Given the description of an element on the screen output the (x, y) to click on. 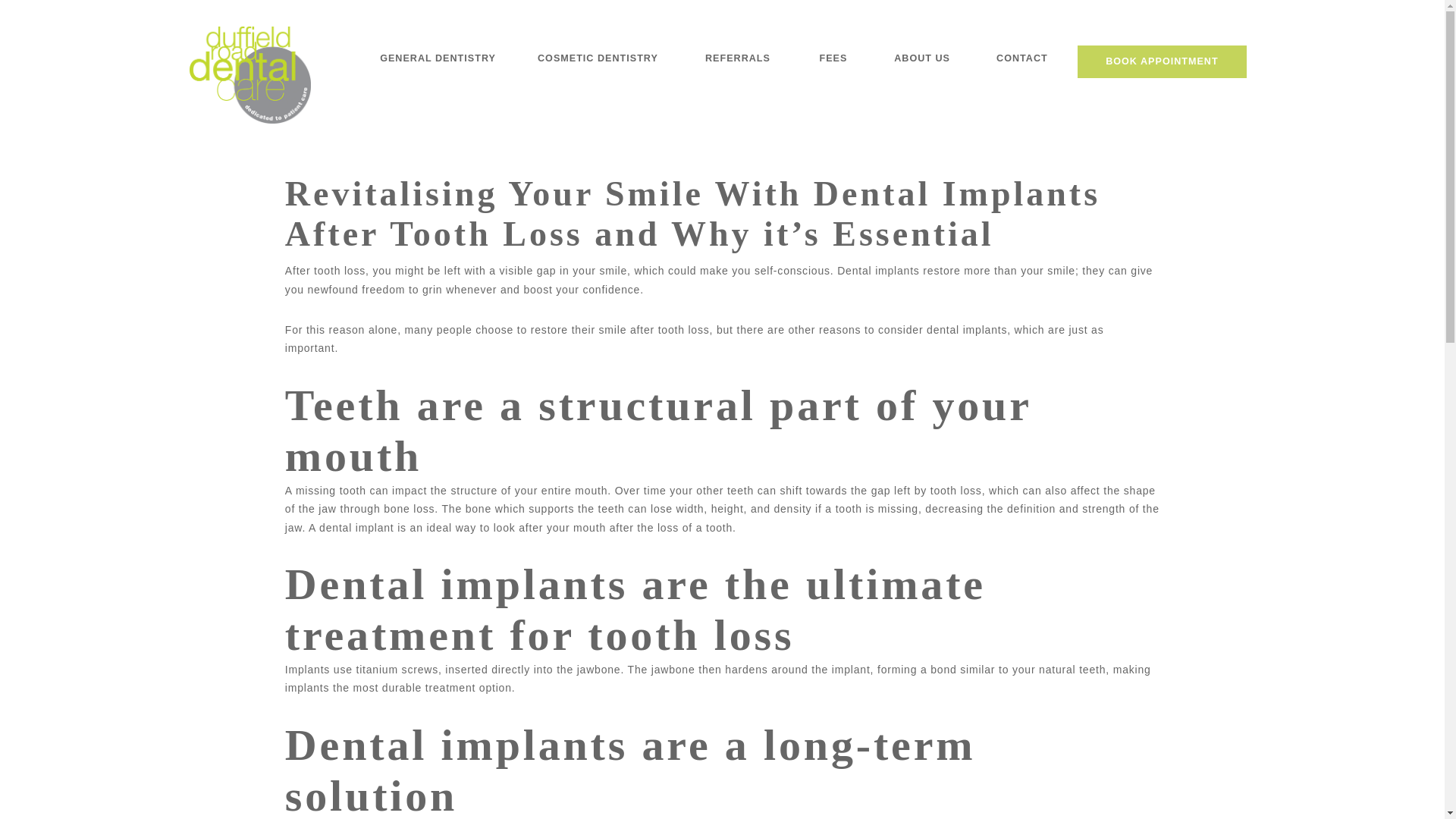
CONTACT (1021, 59)
ABOUT US (921, 59)
COSMETIC DENTISTRY (596, 59)
GENERAL DENTISTRY (437, 59)
REFERRALS (738, 59)
BOOK APPOINTMENT (1161, 61)
FEES (833, 59)
